Given the description of an element on the screen output the (x, y) to click on. 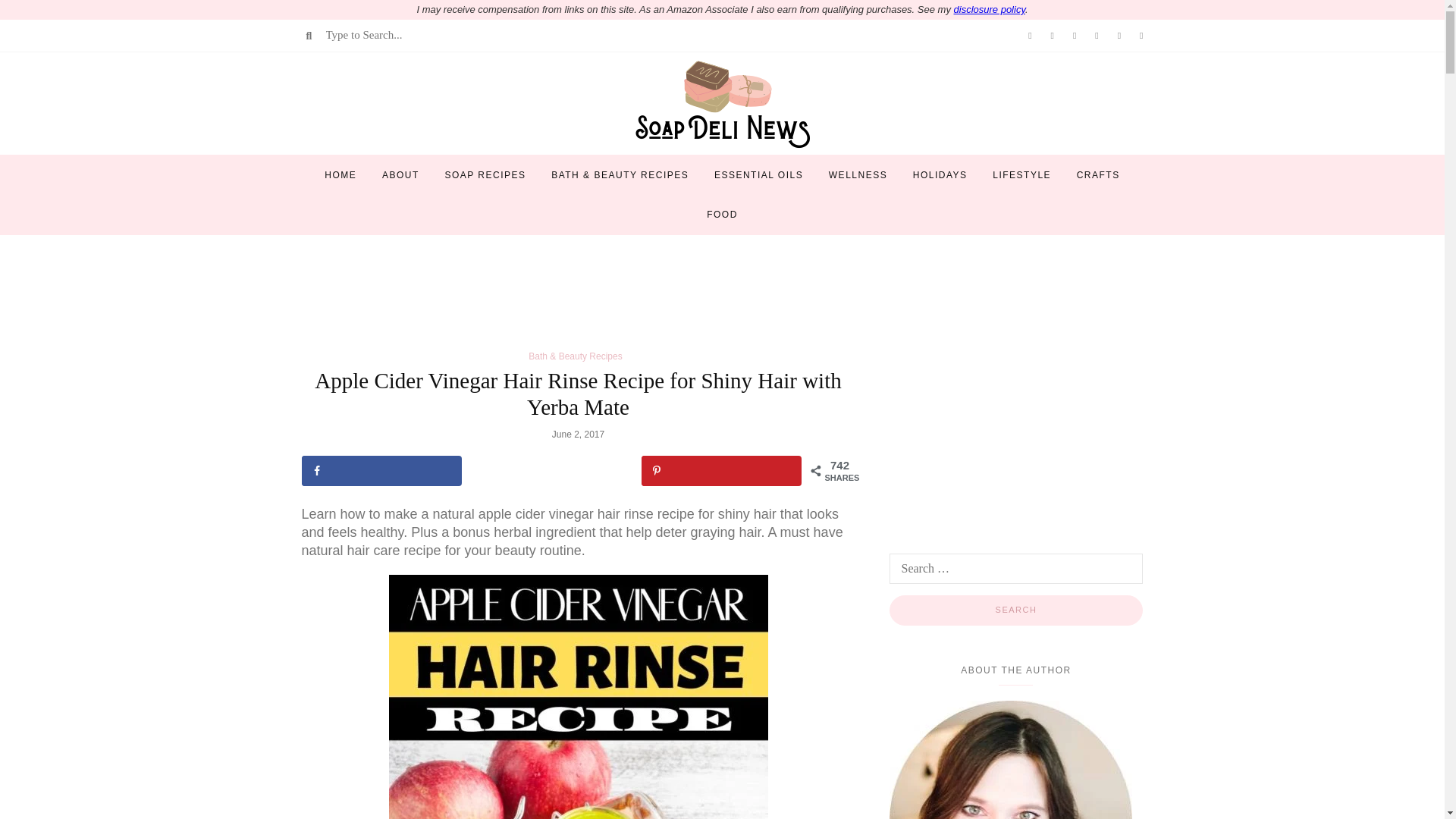
Share on X (551, 470)
Save to Pinterest (722, 470)
CRAFTS (1098, 174)
ESSENTIAL OILS (758, 174)
Share on Facebook (381, 470)
WELLNESS (857, 174)
Search (1015, 609)
SOAP RECIPES (484, 174)
disclosure policy (989, 9)
ABOUT (400, 174)
